Given the description of an element on the screen output the (x, y) to click on. 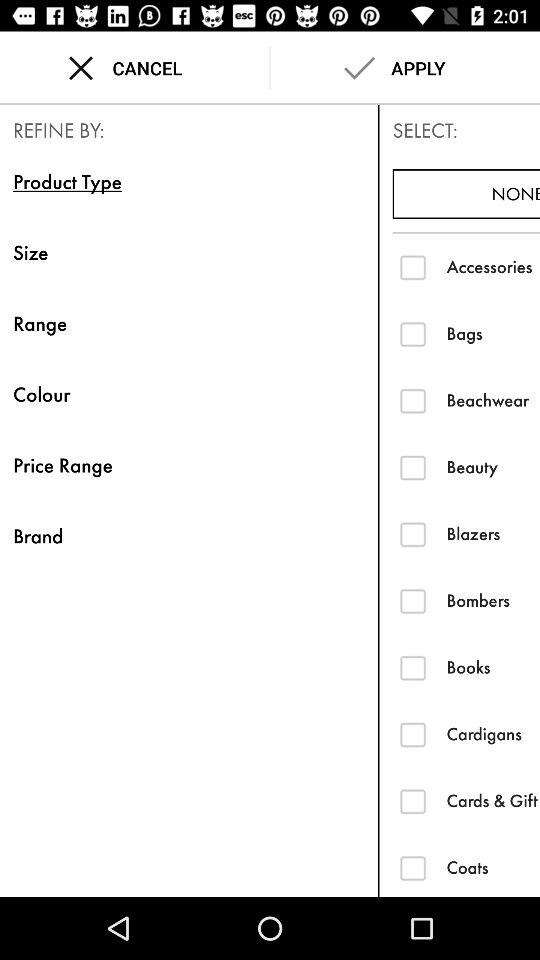
turn off the colour item (188, 394)
